Given the description of an element on the screen output the (x, y) to click on. 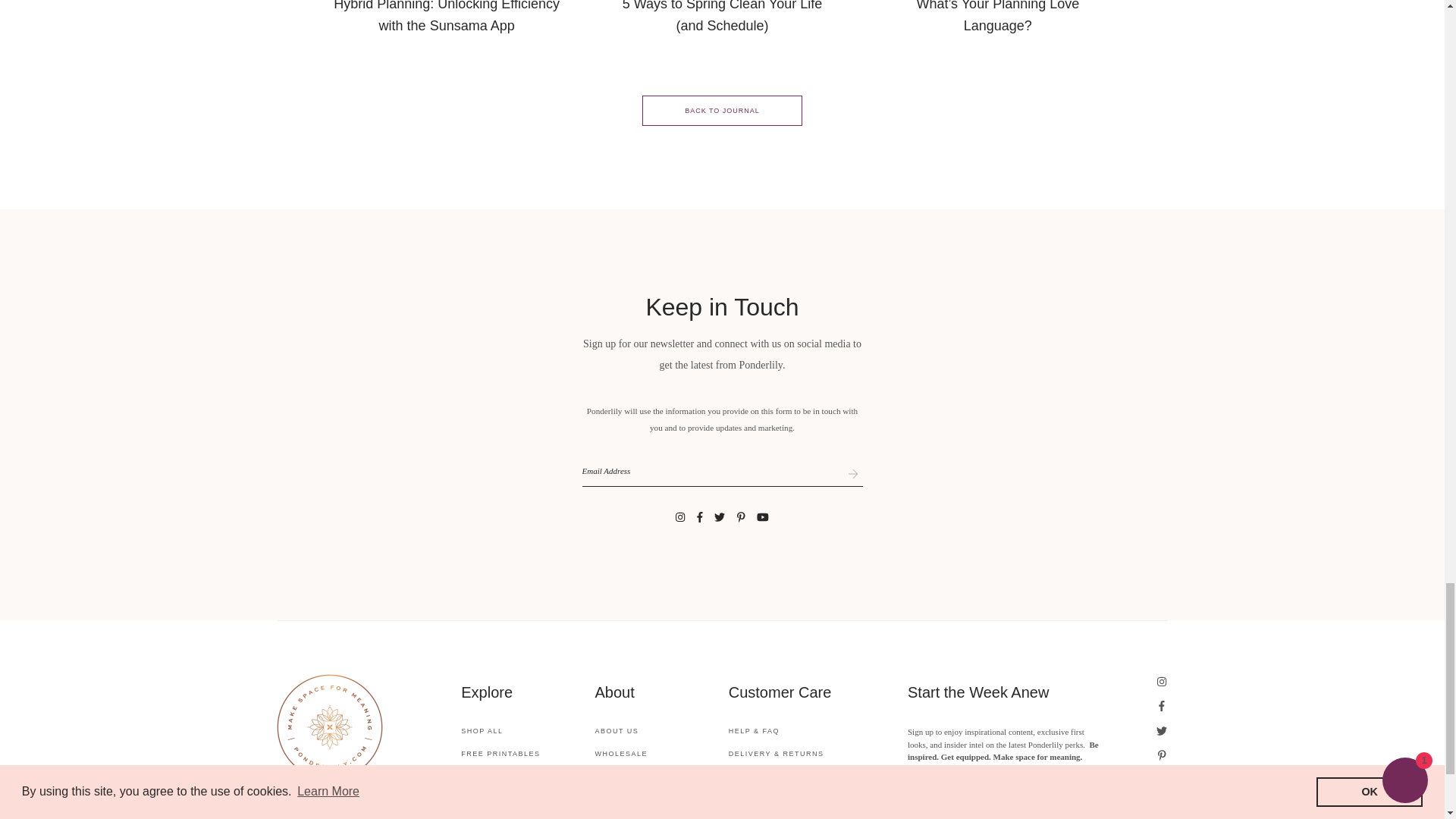
Ponderlily on Twitter (719, 517)
Ponderlily on YouTube (1161, 780)
Ponderlily on Twitter (1161, 731)
Ponderlily on YouTube (762, 517)
